Given the description of an element on the screen output the (x, y) to click on. 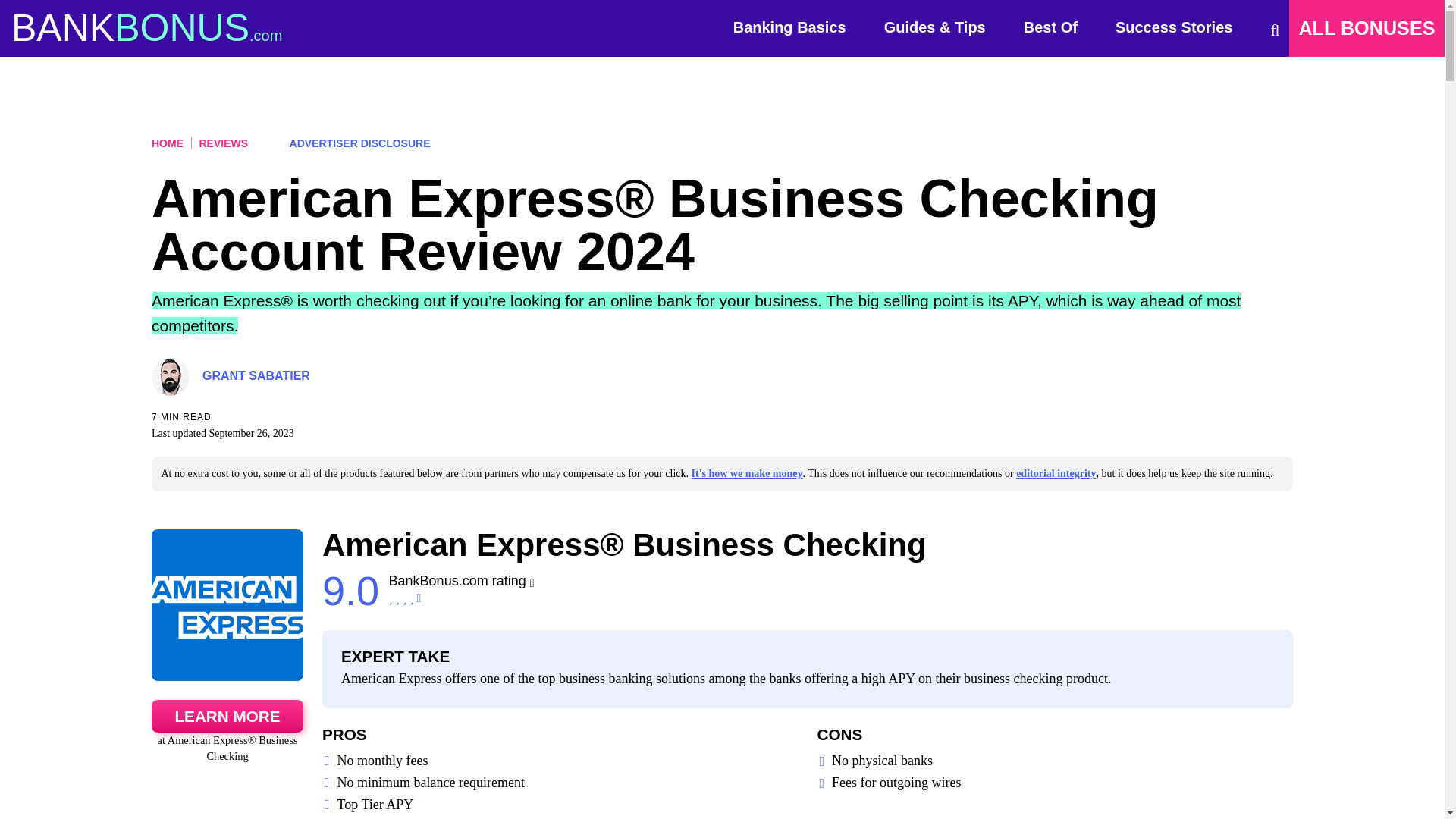
GRANT SABATIER (256, 375)
editorial integrity (1056, 473)
REVIEWS (219, 143)
It's how we make money (747, 473)
Success Stories (1174, 29)
HOME (167, 143)
Banking Basics (789, 29)
LEARN MORE (226, 716)
Best Of (1050, 29)
BANKBONUS (146, 28)
